Given the description of an element on the screen output the (x, y) to click on. 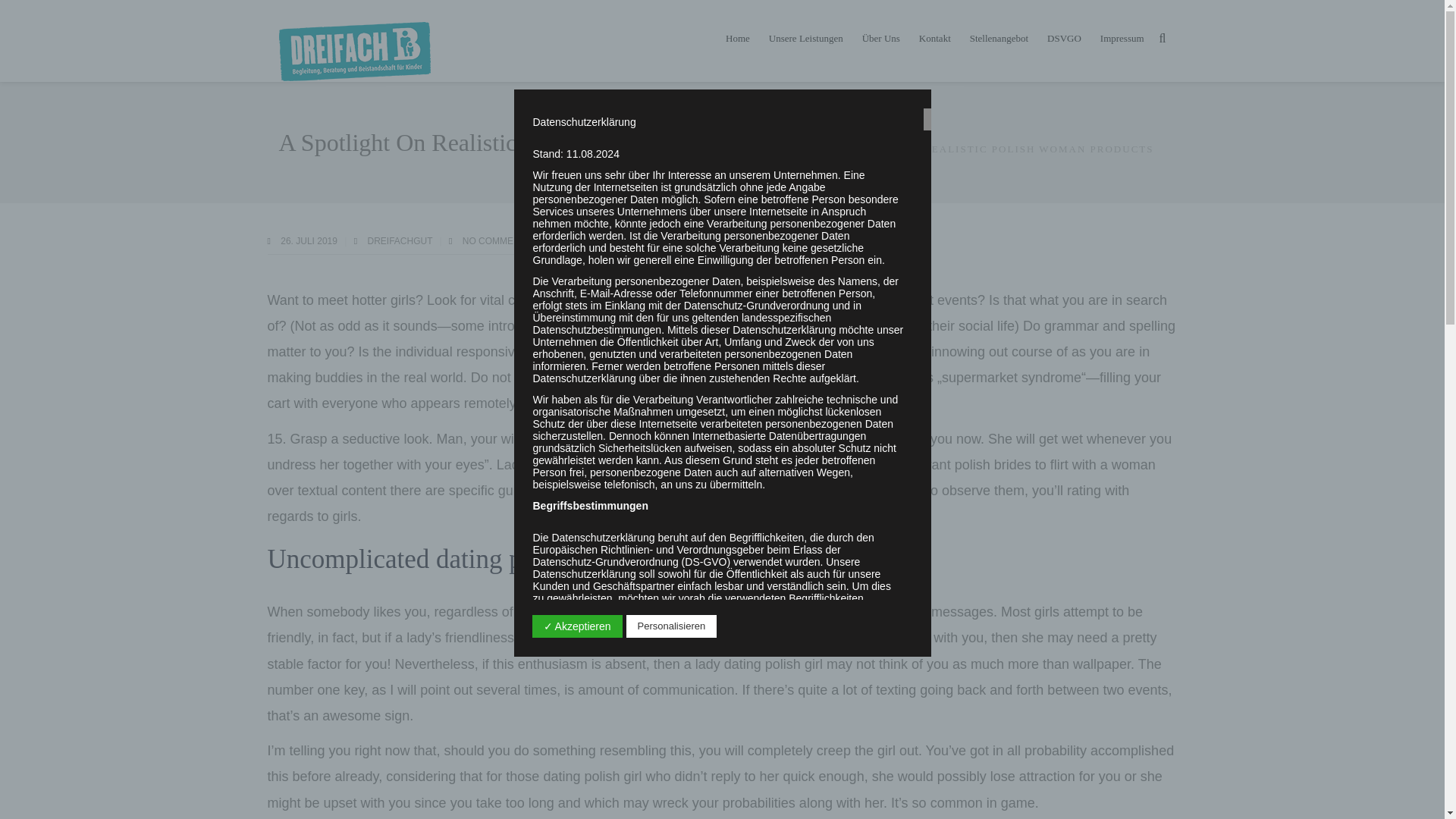
DSVGO (1063, 38)
Stellenangebot (998, 38)
Kontakt (934, 38)
NO COMMENTS (497, 240)
HOME (787, 148)
Unsere Leistungen (805, 38)
DREIFACHGUT (399, 240)
Home (737, 38)
 dreifachgut (399, 240)
Impressum (1122, 38)
